Given the description of an element on the screen output the (x, y) to click on. 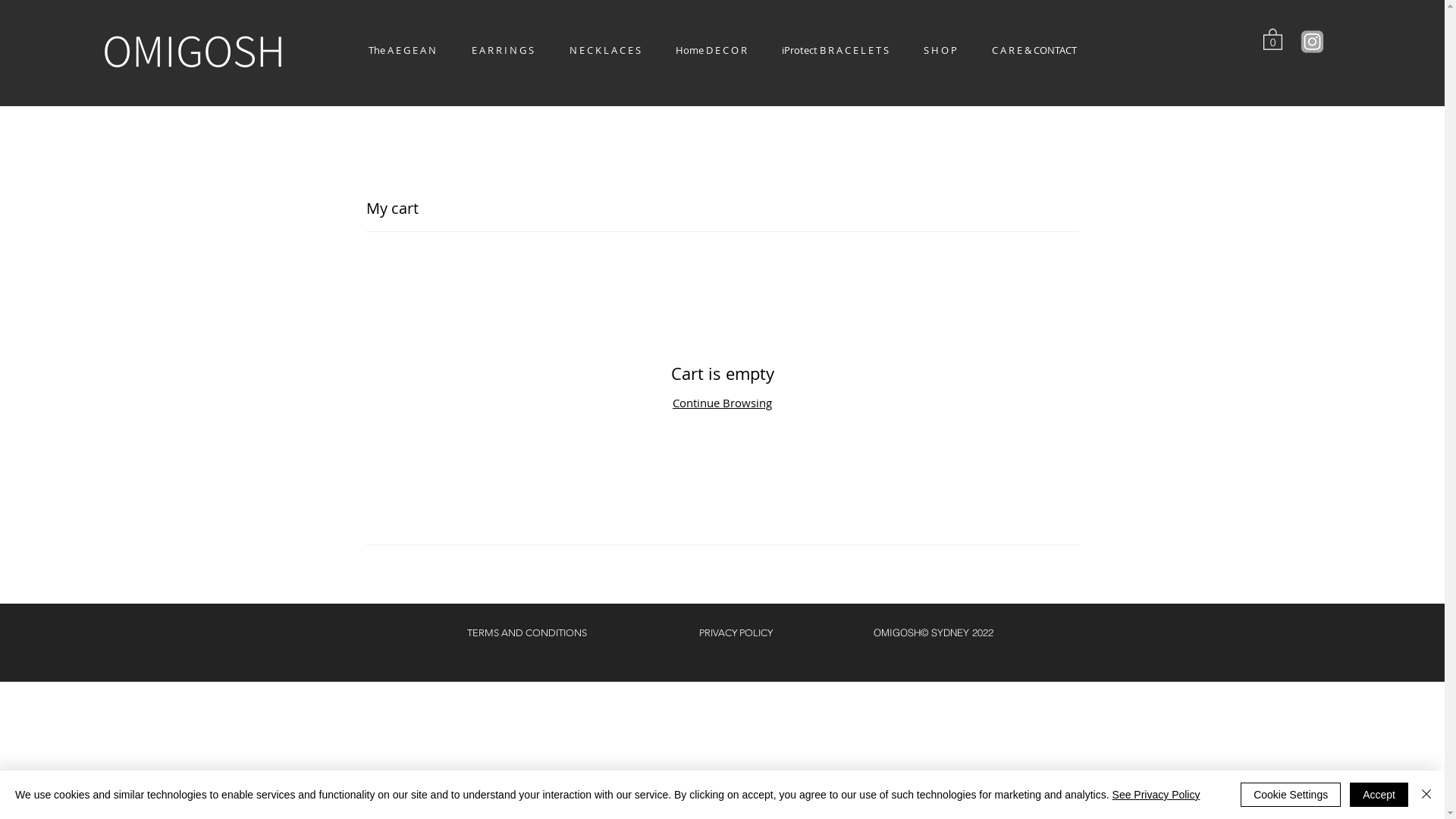
E A R R I N G S Element type: text (502, 49)
See Privacy Policy Element type: text (1156, 794)
Accept Element type: text (1378, 794)
iProtect B R A C E L E T S Element type: text (835, 49)
Cookie Settings Element type: text (1290, 794)
PRIVACY POLICY Element type: text (735, 632)
Continue Browsing Element type: text (721, 402)
Home D E C O R Element type: text (711, 49)
0 Element type: text (1272, 38)
The A E G E A N Element type: text (401, 49)
N E C K L A C E S Element type: text (605, 49)
C A R E & CONTACT Element type: text (1033, 49)
S H O P Element type: text (939, 49)
